Given the description of an element on the screen output the (x, y) to click on. 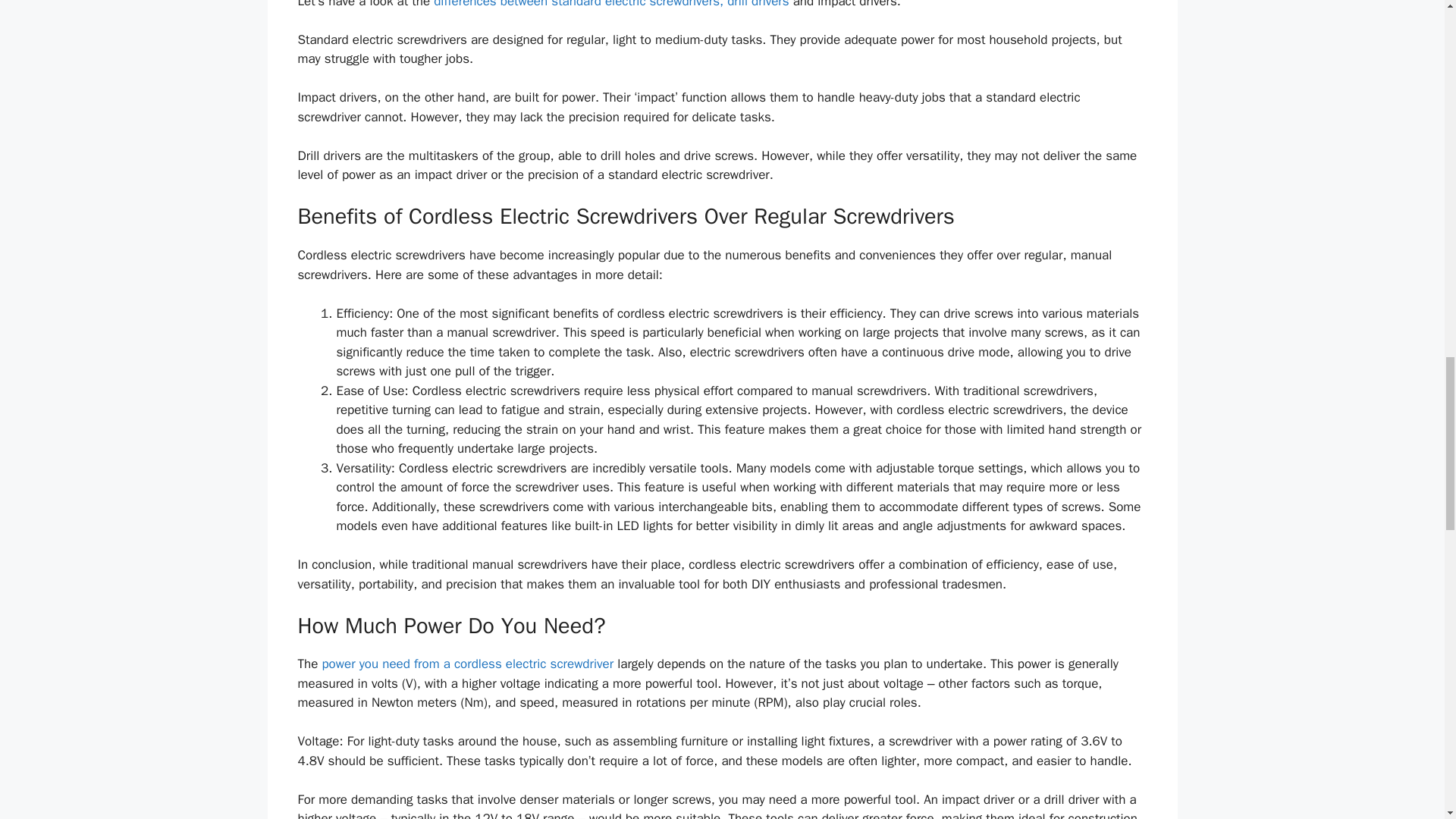
power you need from a cordless electric screwdriver (466, 663)
